Given the description of an element on the screen output the (x, y) to click on. 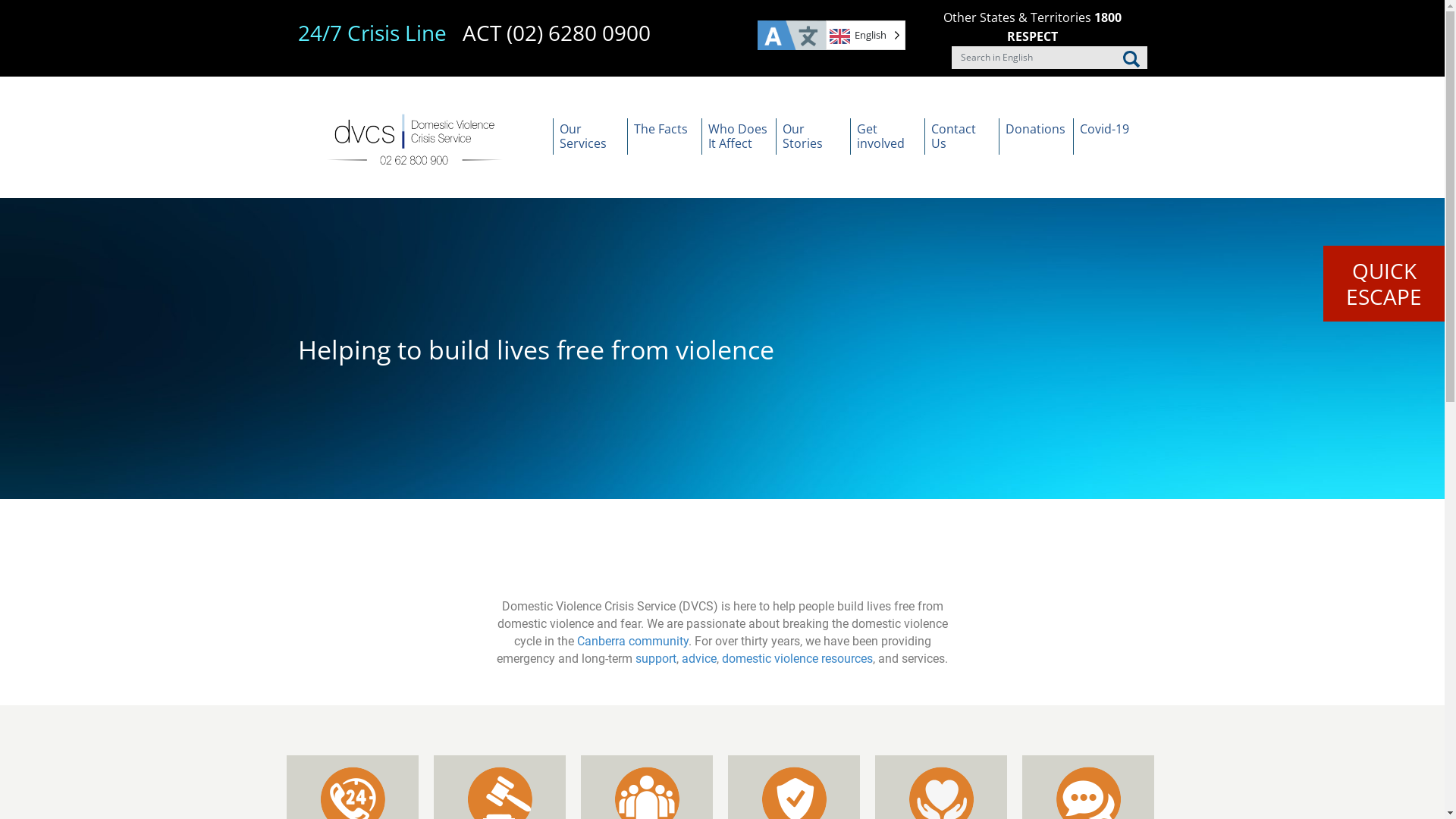
Canberra community Element type: text (631, 640)
domestic violence resources Element type: text (796, 658)
support Element type: text (655, 658)
QUICK ESCAPE Element type: text (1383, 283)
The Facts Element type: text (663, 136)
Search Element type: text (1131, 58)
1800 RESPECT Element type: text (1064, 26)
advice Element type: text (698, 658)
Who Does It Affect Element type: text (737, 136)
Our Stories Element type: text (812, 136)
Donations Element type: text (1034, 136)
Contact Us Element type: text (960, 136)
Get involved Element type: text (886, 136)
ACT (02) 6280 0900 Element type: text (556, 32)
Our Services Element type: text (589, 136)
Covid-19 Element type: text (1109, 136)
